Given the description of an element on the screen output the (x, y) to click on. 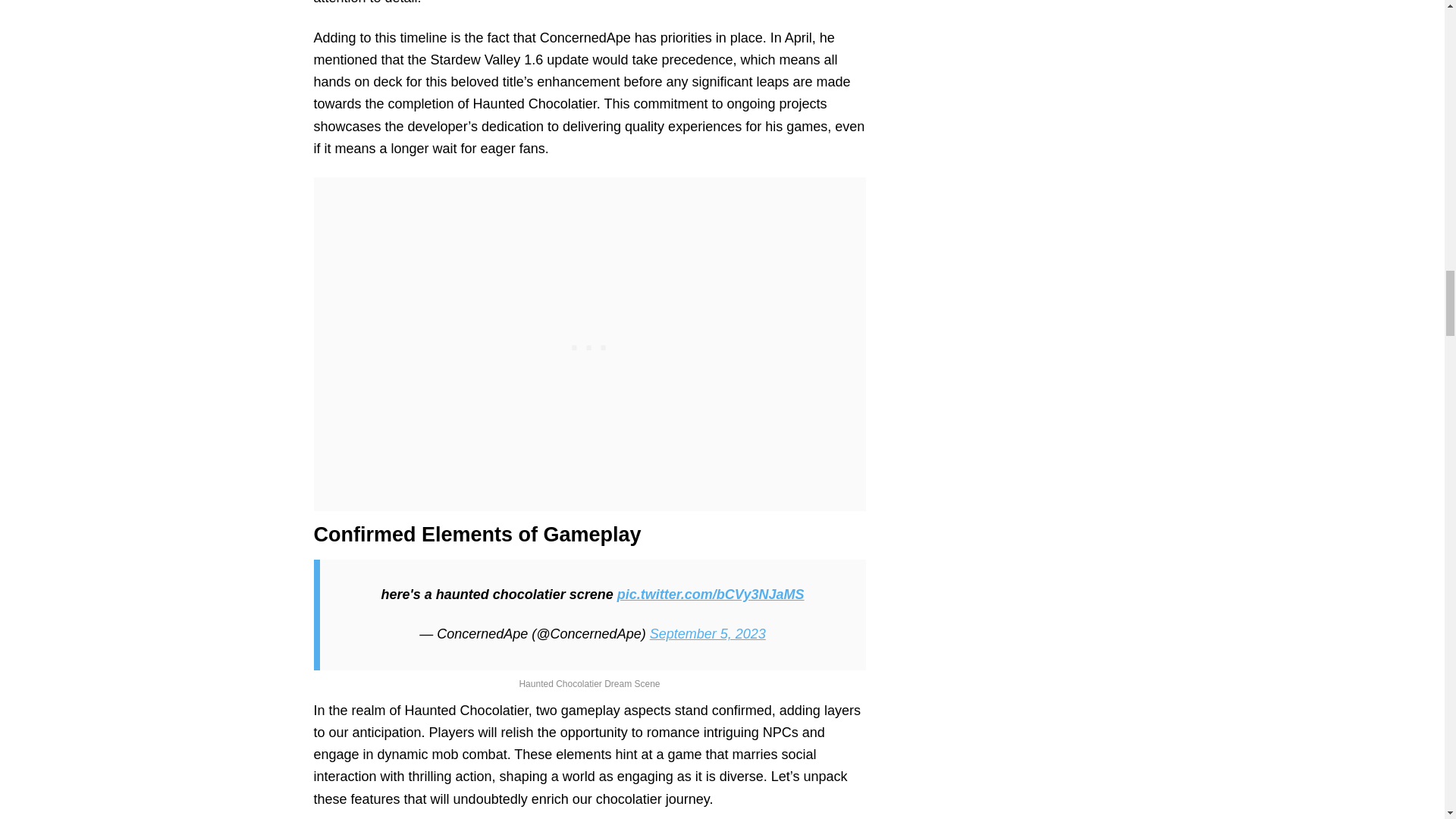
September 5, 2023 (707, 633)
